Given the description of an element on the screen output the (x, y) to click on. 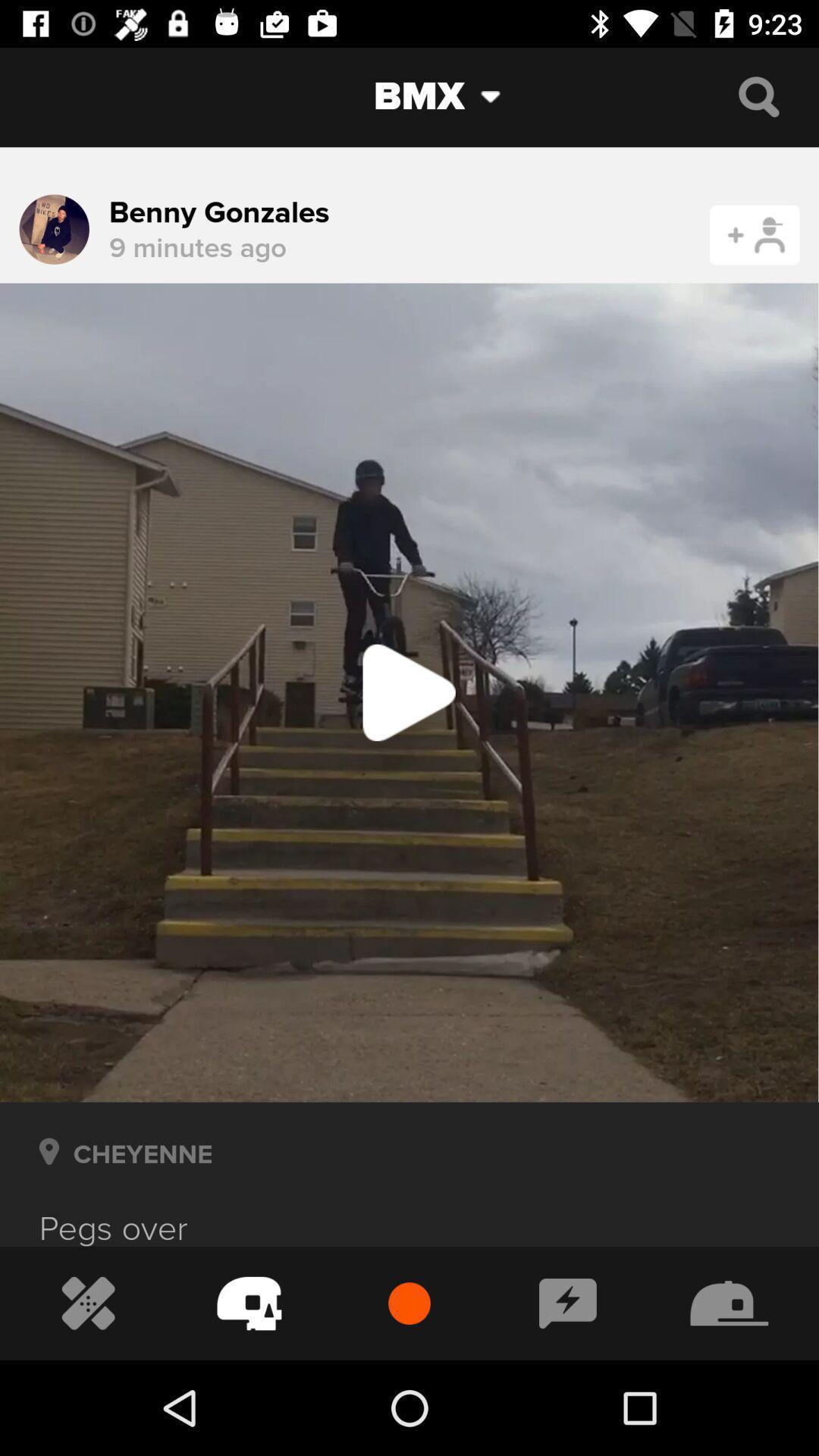
select the icon which is left to the cap icon (568, 1303)
select the second  icon which is at the bottom (249, 1303)
click on the icon which is just below pegs over (88, 1303)
click on the red button at the bottom of the page (409, 1302)
click the icon at the bottom right corner of the page (729, 1303)
tap the play button (409, 693)
select the text bmx (399, 96)
click on the drop down icon just beside bmx (502, 96)
